Given the description of an element on the screen output the (x, y) to click on. 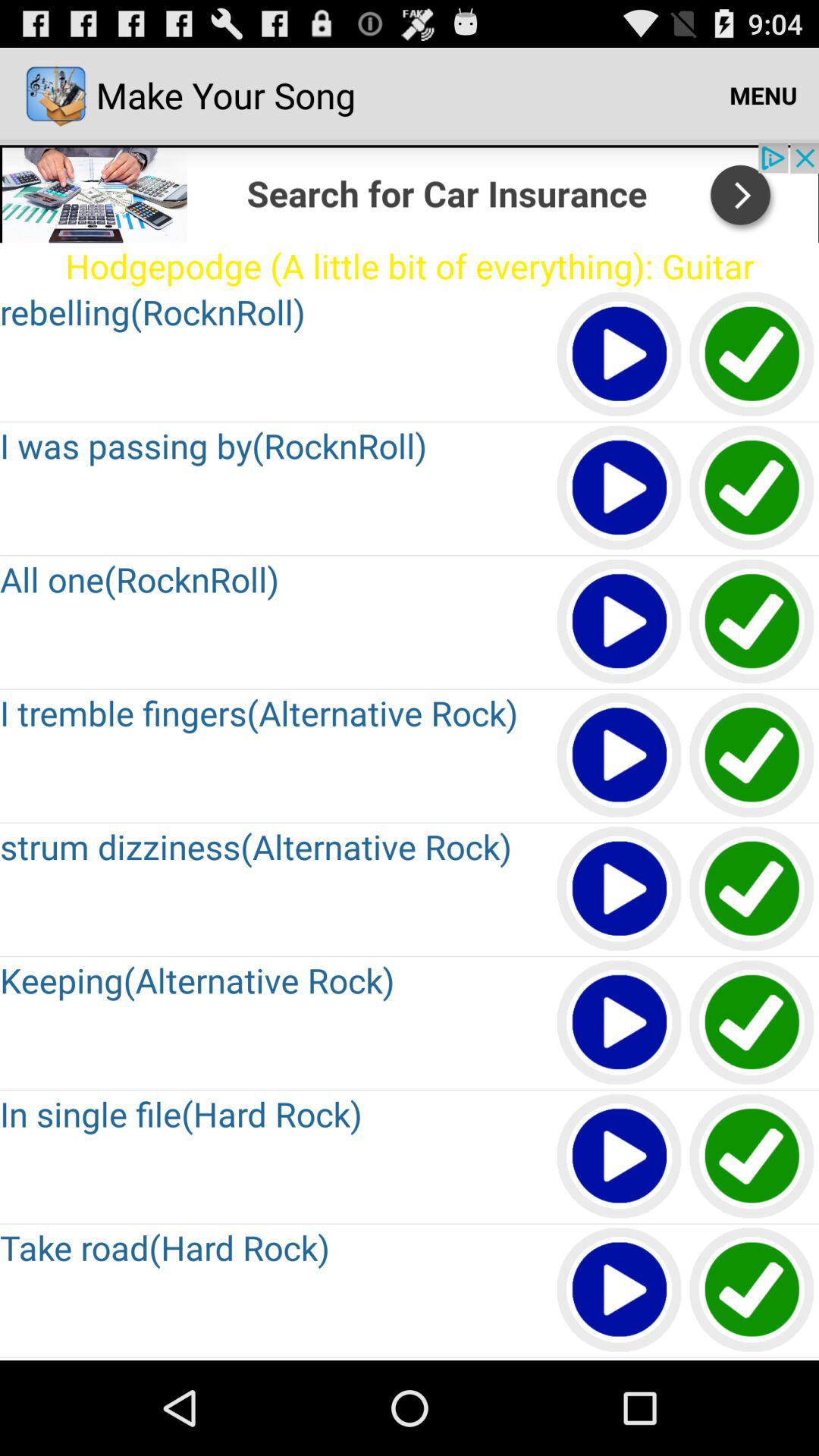
play 'take road hard rock (619, 1290)
